Given the description of an element on the screen output the (x, y) to click on. 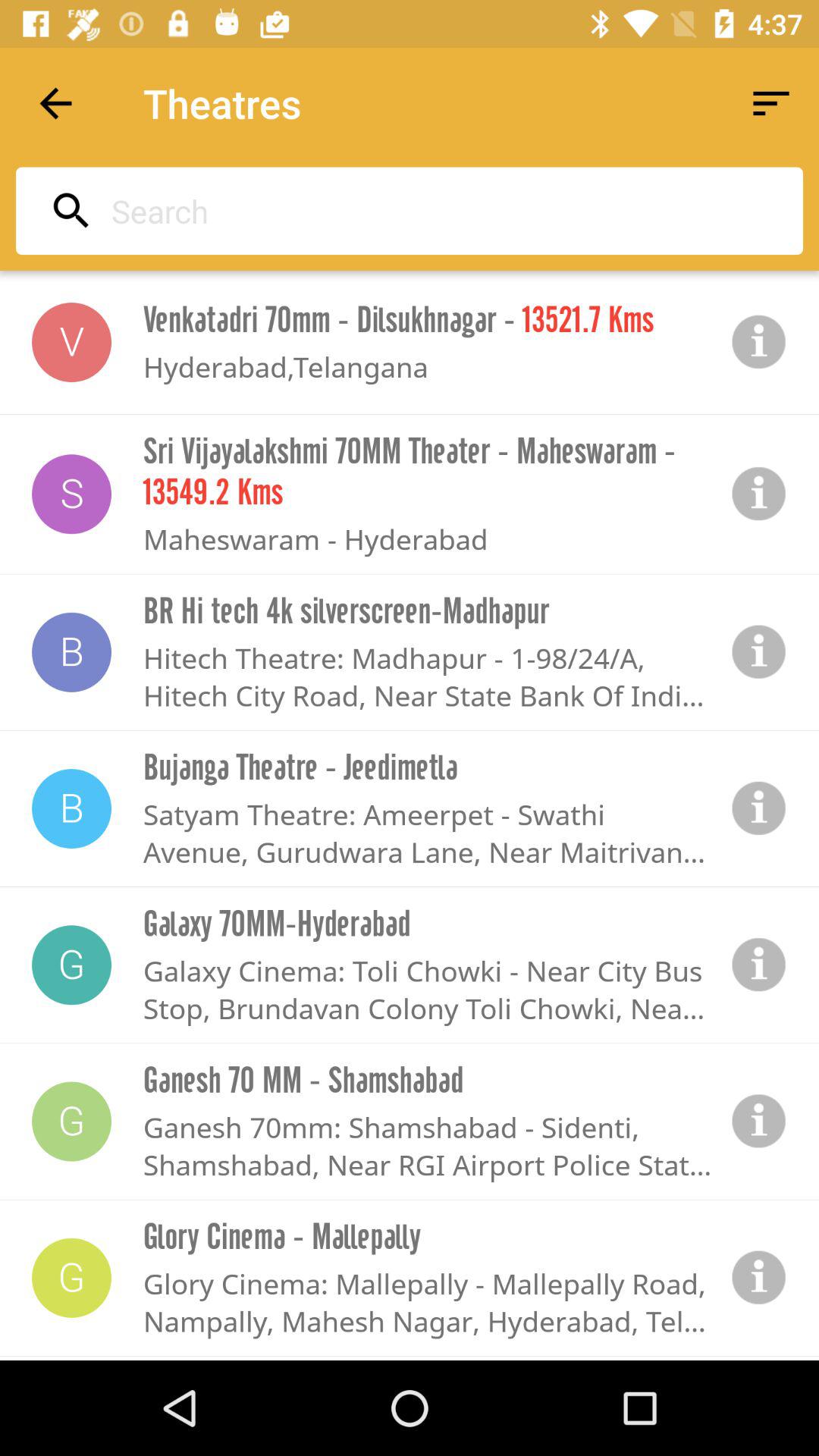
get more info on this awaiting adventure (759, 652)
